Given the description of an element on the screen output the (x, y) to click on. 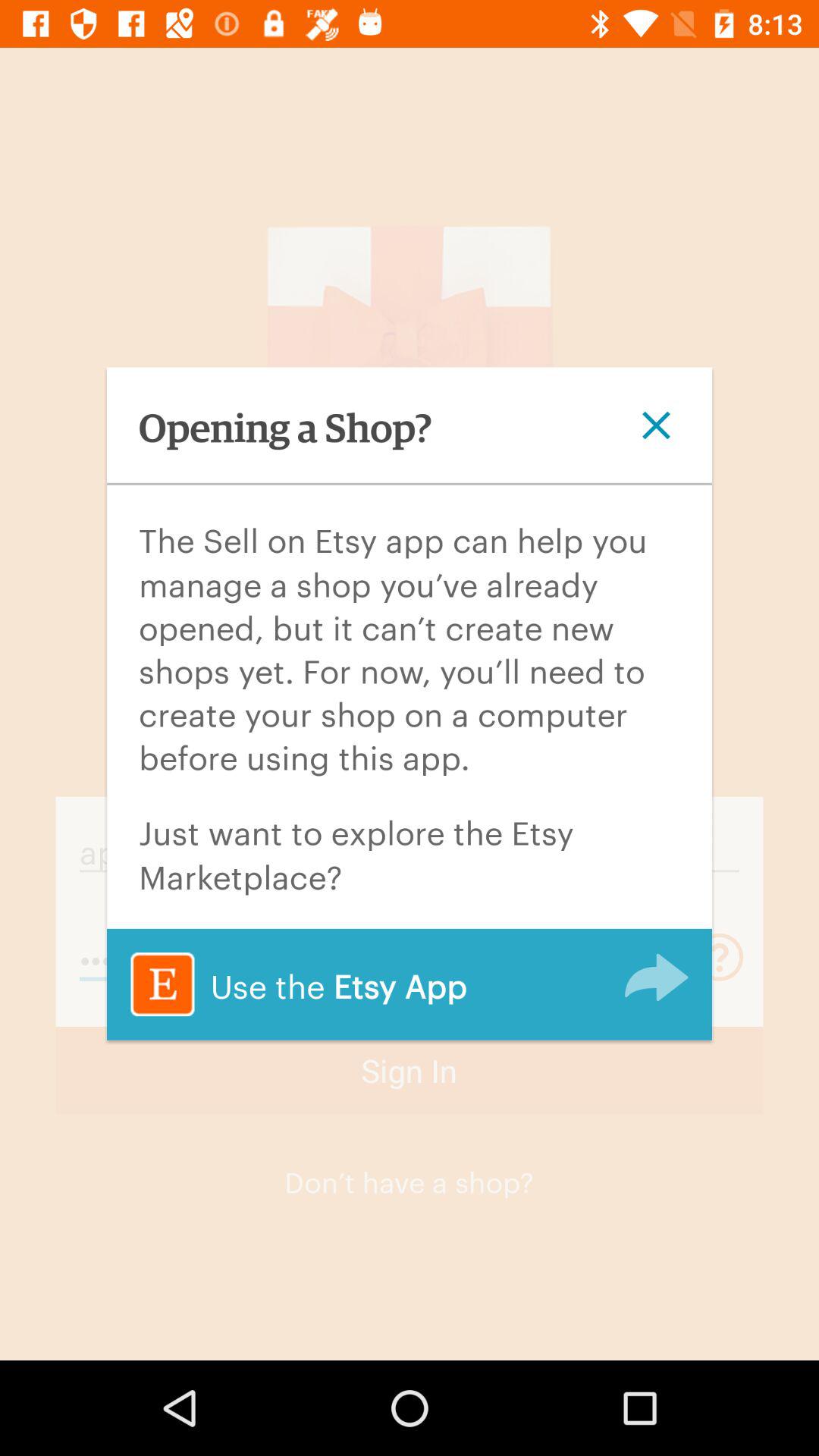
launch item to the right of the opening a shop? item (656, 424)
